Given the description of an element on the screen output the (x, y) to click on. 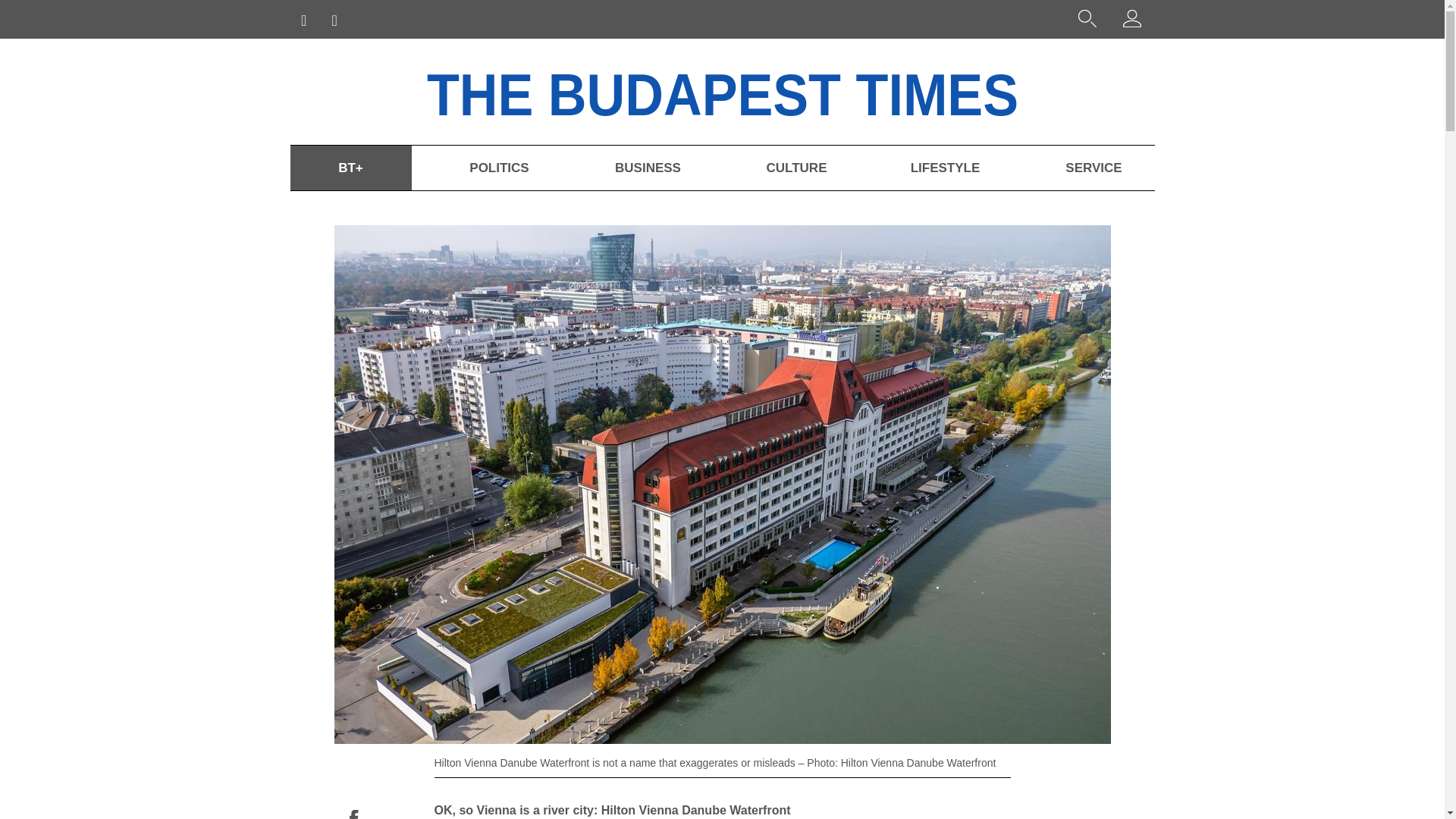
LIFESTYLE (944, 167)
Login (1131, 20)
POLITICS (498, 167)
THE BUDAPEST TIMES (765, 91)
BUSINESS (646, 167)
Facebook (352, 814)
SERVICE (1093, 167)
CULTURE (796, 167)
